Given the description of an element on the screen output the (x, y) to click on. 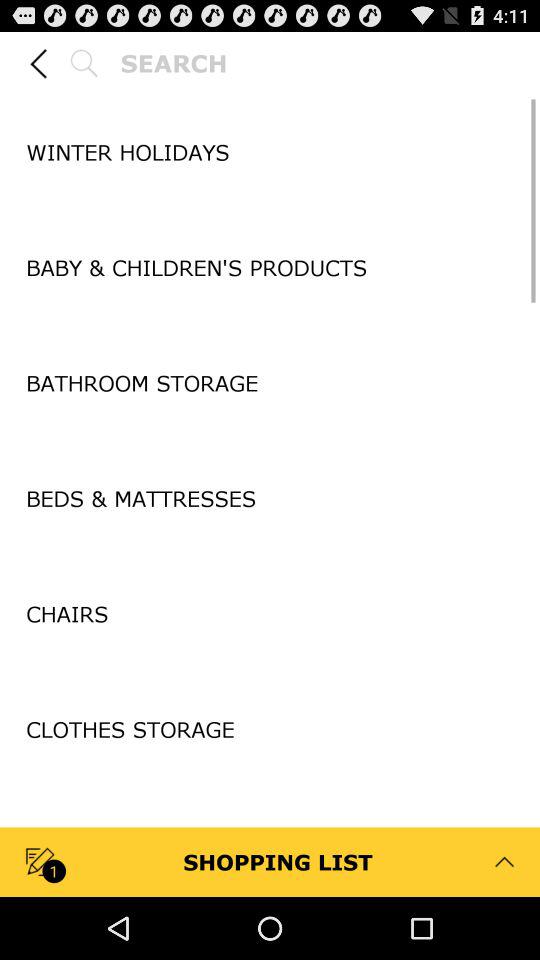
turn on icon below winter holidays app (270, 209)
